Given the description of an element on the screen output the (x, y) to click on. 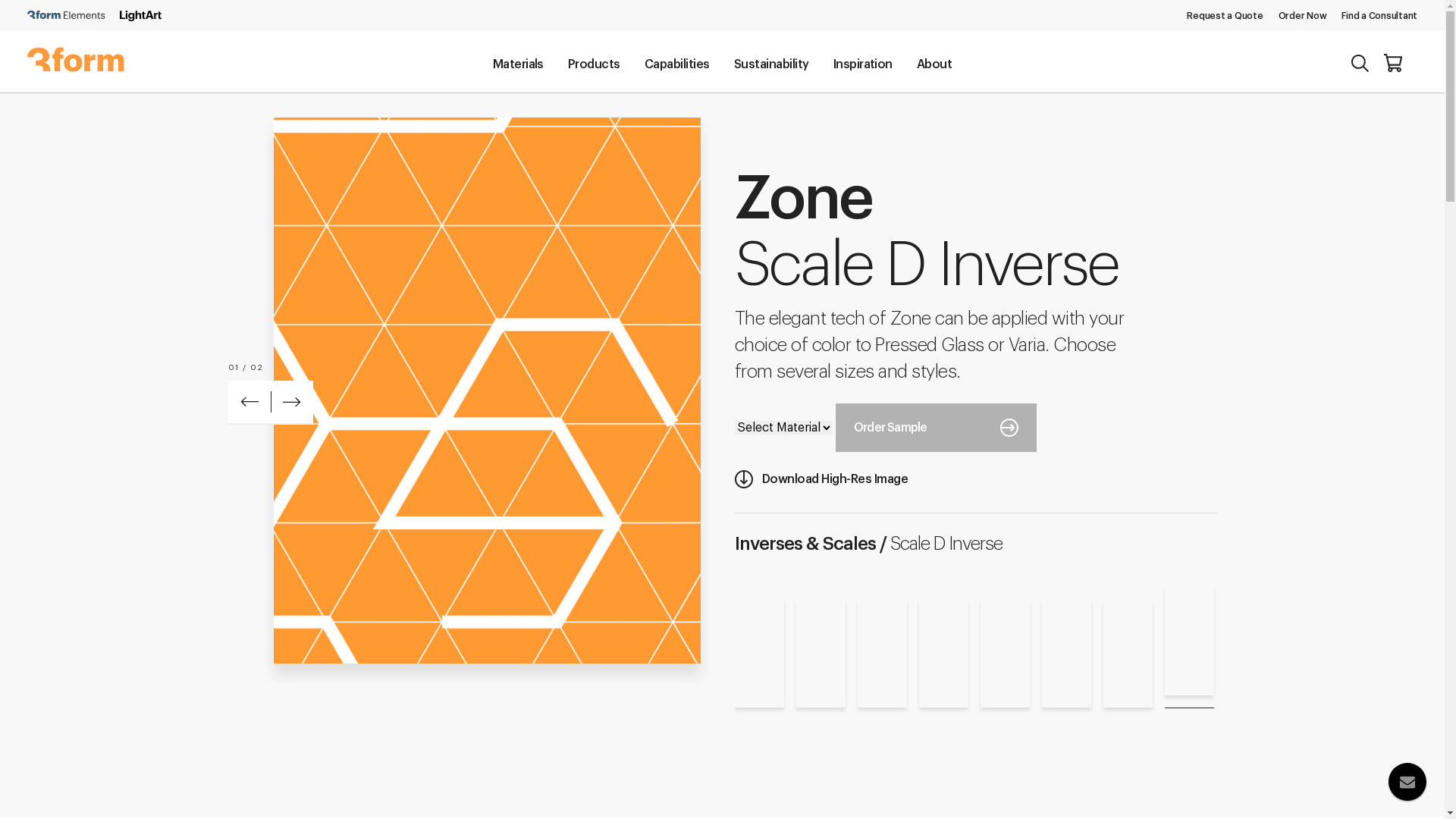
Customer Chat Element type: hover (1396, 759)
Sustainability Element type: text (771, 62)
Order Now Element type: text (1302, 15)
Icon - 3form Elements Wordmark Element type: text (65, 15)
Download High-Res Image Element type: text (934, 479)
Capabilities Element type: text (676, 62)
About Element type: text (933, 62)
3form Element type: text (75, 68)
Products Element type: text (593, 62)
Inspiration Element type: text (862, 62)
Request a Quote Element type: text (1224, 15)
Find a Consultant Element type: text (1379, 15)
Materials Element type: text (517, 62)
Order Sample Element type: text (935, 427)
